Given the description of an element on the screen output the (x, y) to click on. 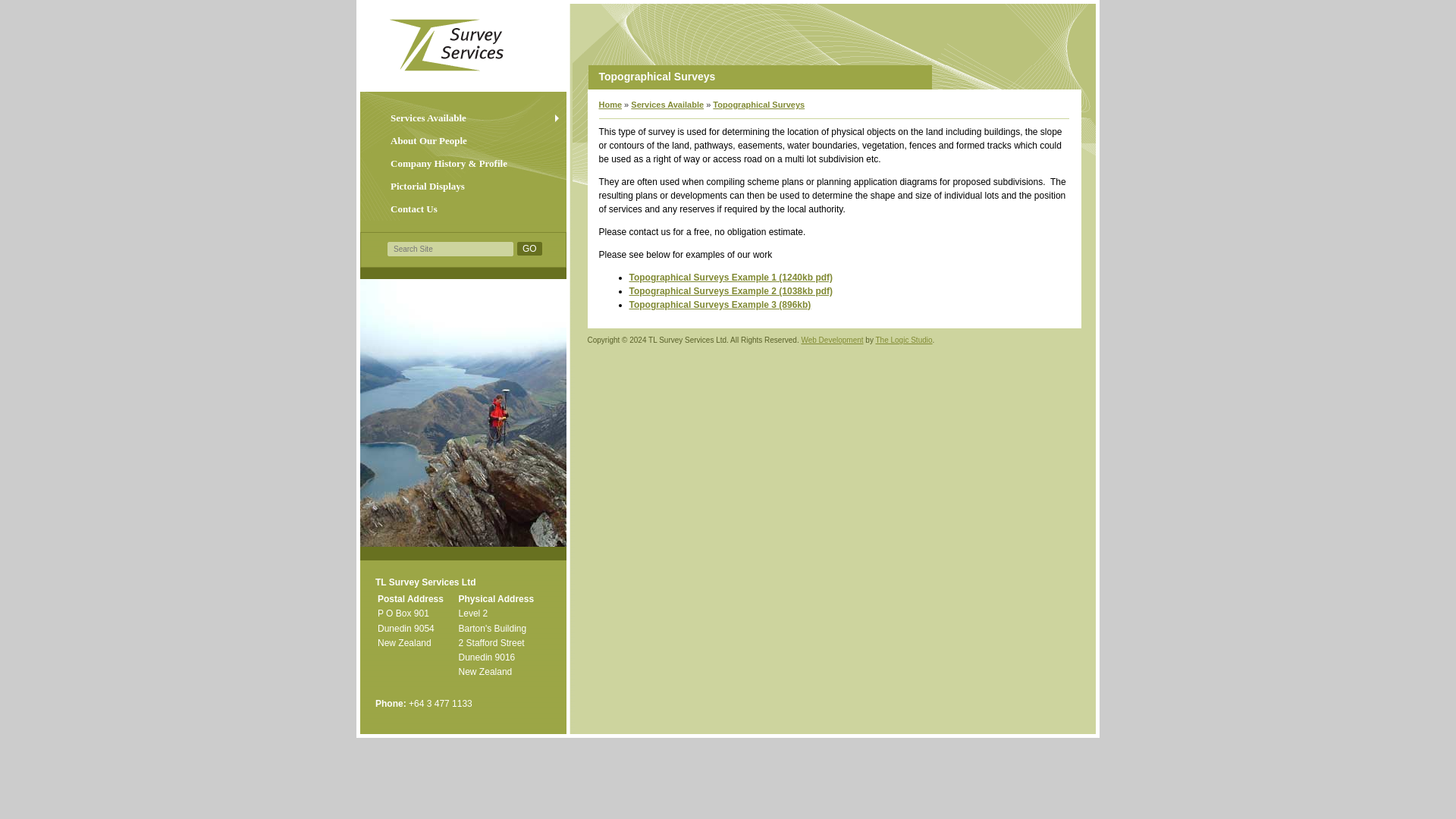
The Logic Studio (903, 339)
Web Development (831, 339)
Services Available (462, 118)
Services Available (666, 103)
Go (528, 248)
Topographical Surveys (759, 103)
Go (528, 248)
Go (528, 248)
About Our People (462, 140)
Pictorial Displays (462, 186)
Home (610, 103)
Contact Us (462, 209)
